Given the description of an element on the screen output the (x, y) to click on. 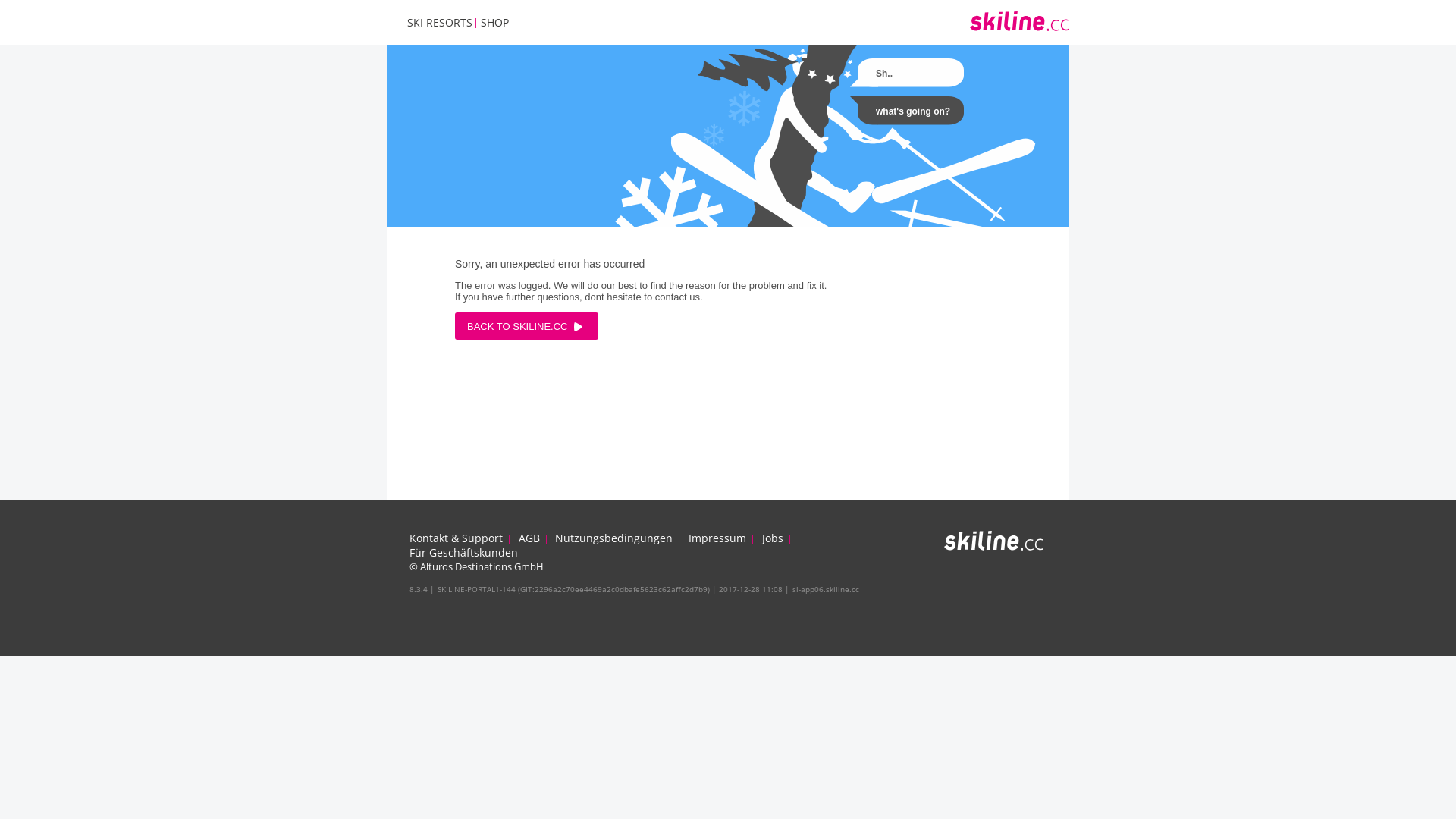
SHOP Element type: text (494, 22)
Jobs Element type: text (771, 537)
Zur Skiline Startseite Element type: hover (993, 546)
AGB Element type: text (528, 537)
Nutzungsbedingungen Element type: text (613, 537)
Kontakt & Support Element type: text (455, 537)
SKI RESORTS Element type: text (439, 22)
BACK TO SKILINE.CC Element type: text (526, 325)
Impressum Element type: text (717, 537)
Skiline Startpage Element type: hover (1019, 26)
